Given the description of an element on the screen output the (x, y) to click on. 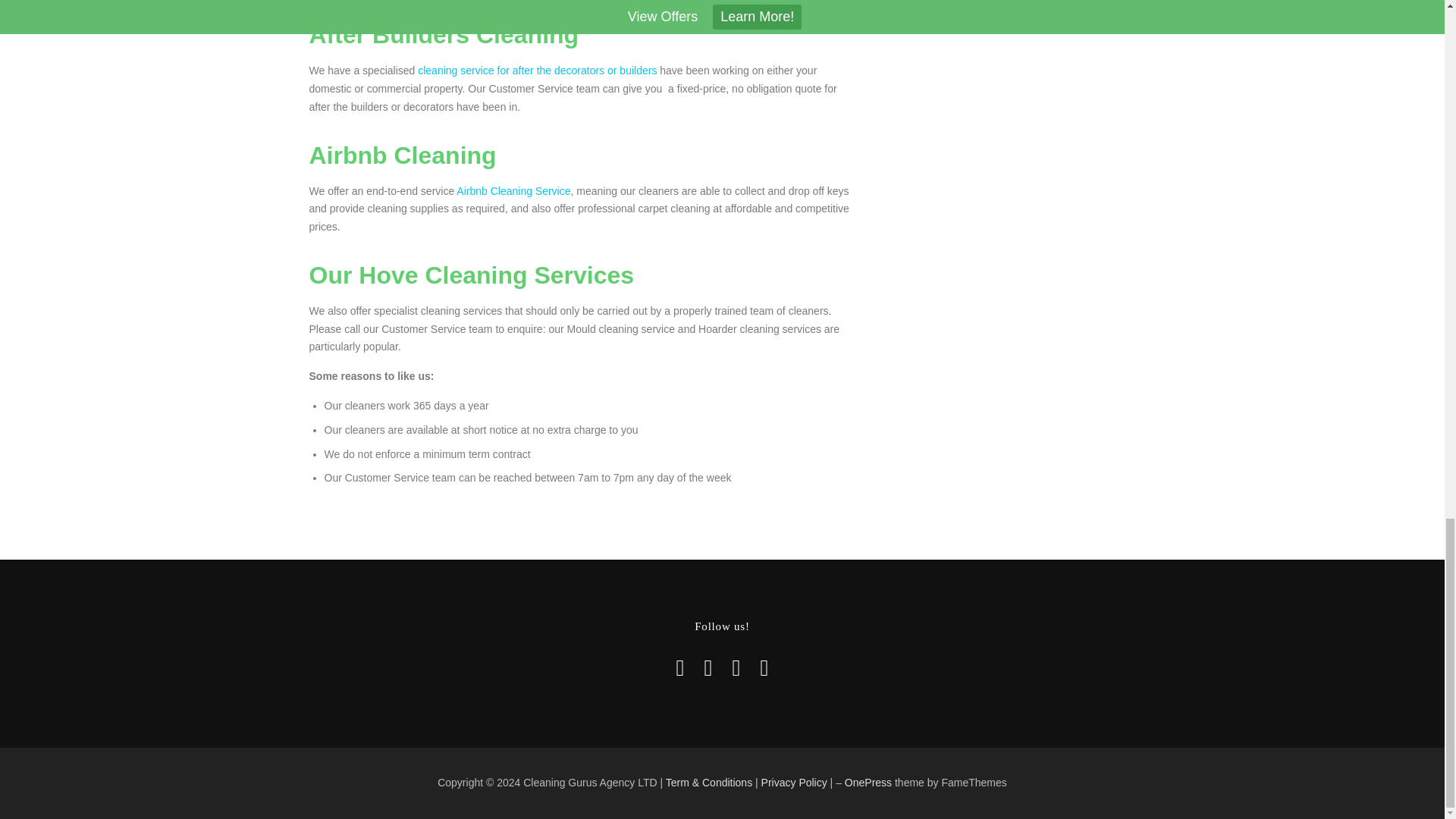
OnePress (867, 782)
cleaning service for after the decorators or builders (536, 70)
Airbnb Cleaning Service (513, 191)
Back To Top (1081, 765)
Privacy Policy (794, 782)
